Given the description of an element on the screen output the (x, y) to click on. 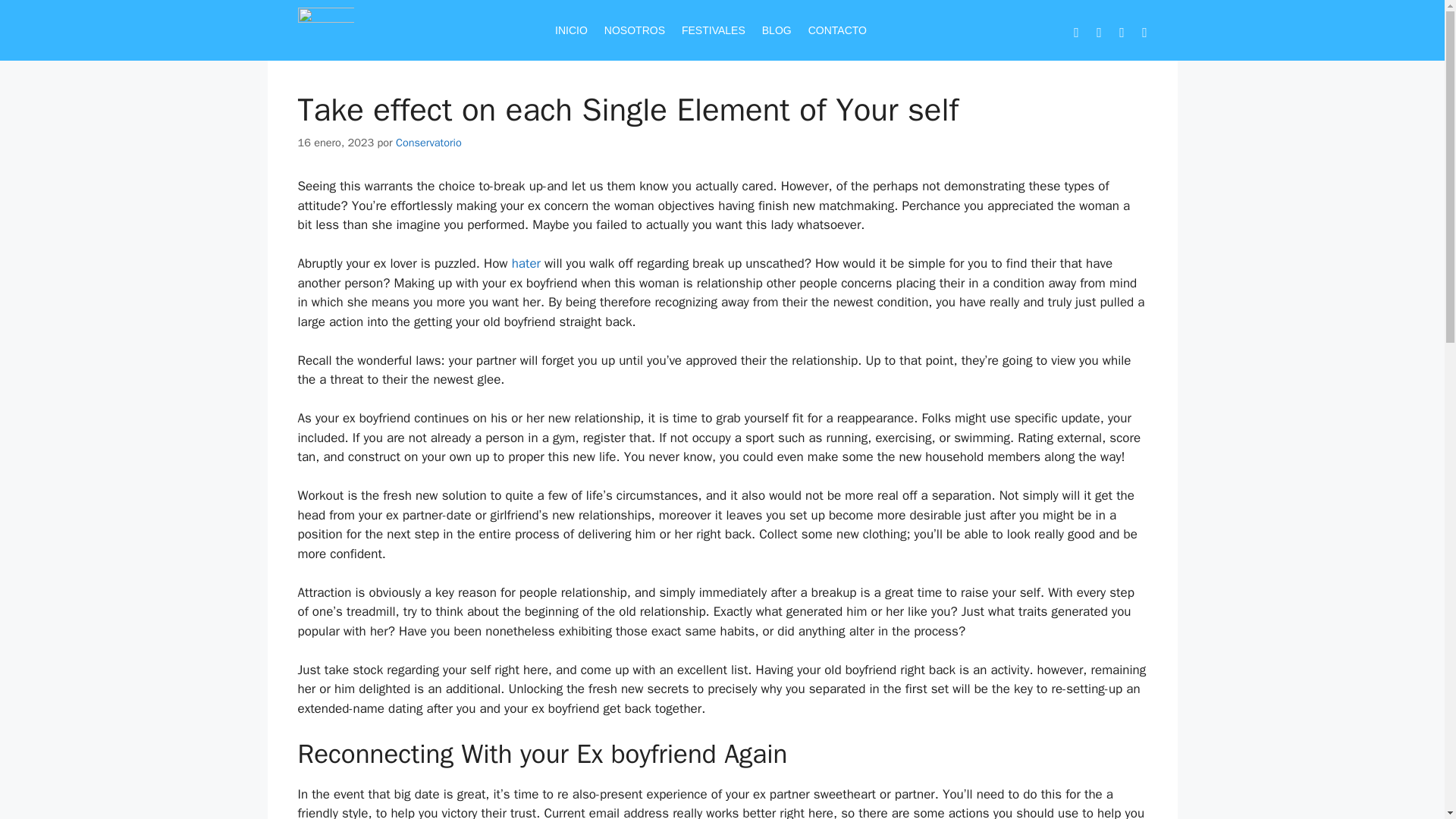
Ver todas las entradas de Conservatorio (428, 142)
FESTIVALES (713, 29)
hater (526, 263)
NOSOTROS (633, 29)
CONTACTO (837, 29)
INICIO (571, 29)
BLOG (776, 29)
Conservatorio (428, 142)
